Given the description of an element on the screen output the (x, y) to click on. 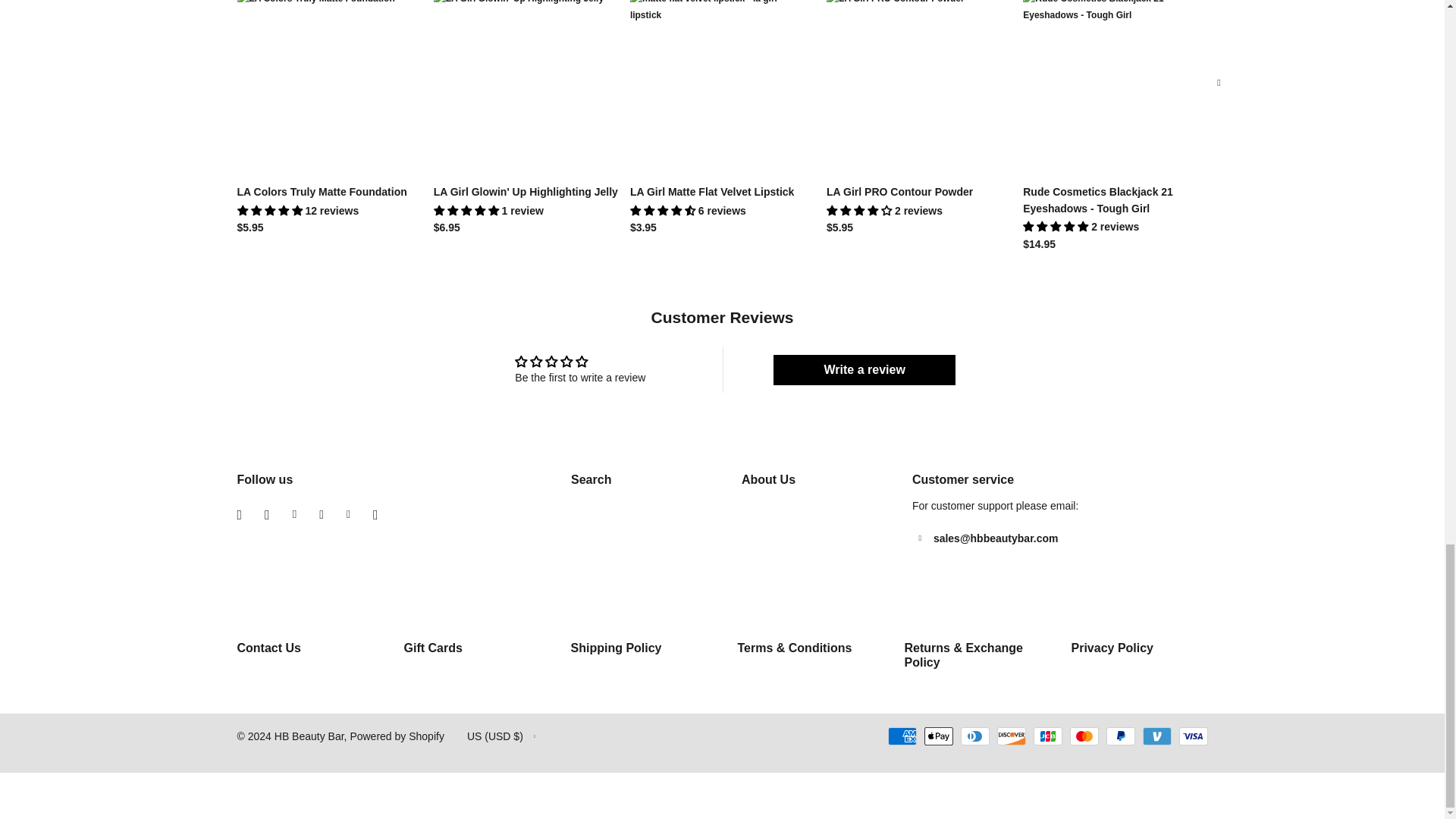
Discover (1010, 736)
Diners Club (973, 736)
Apple Pay (937, 736)
American Express (900, 736)
Venmo (1155, 736)
PayPal (1119, 736)
JCB (1046, 736)
Visa (1192, 736)
Mastercard (1082, 736)
